Given the description of an element on the screen output the (x, y) to click on. 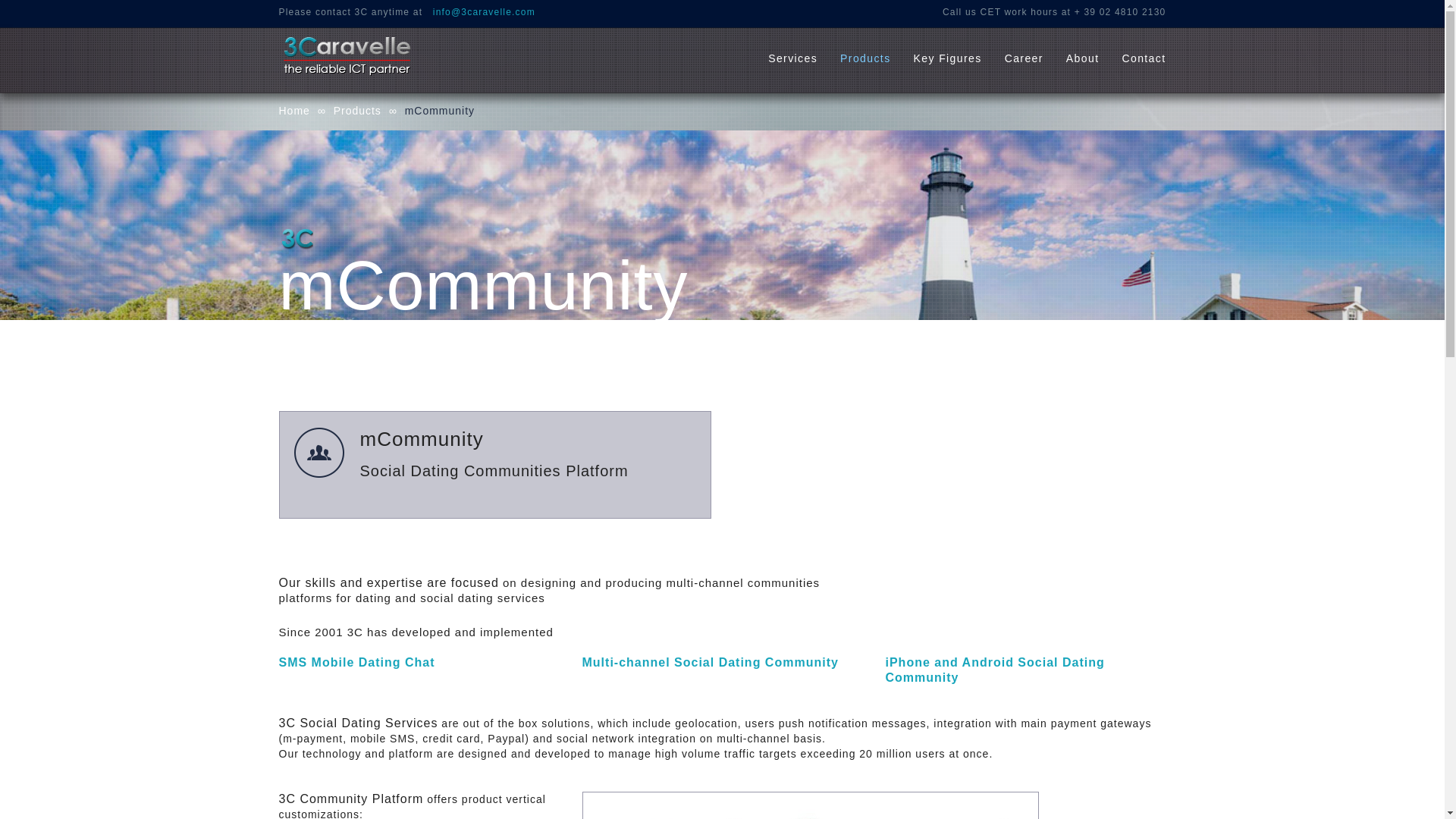
Products Element type: text (864, 57)
About Element type: text (1082, 57)
info@3caravelle.com Element type: text (484, 11)
Services Element type: text (792, 57)
Key Figures Element type: text (947, 57)
Products Element type: text (357, 110)
Home Element type: text (294, 110)
Contact Element type: text (1143, 57)
Career Element type: text (1023, 57)
